Given the description of an element on the screen output the (x, y) to click on. 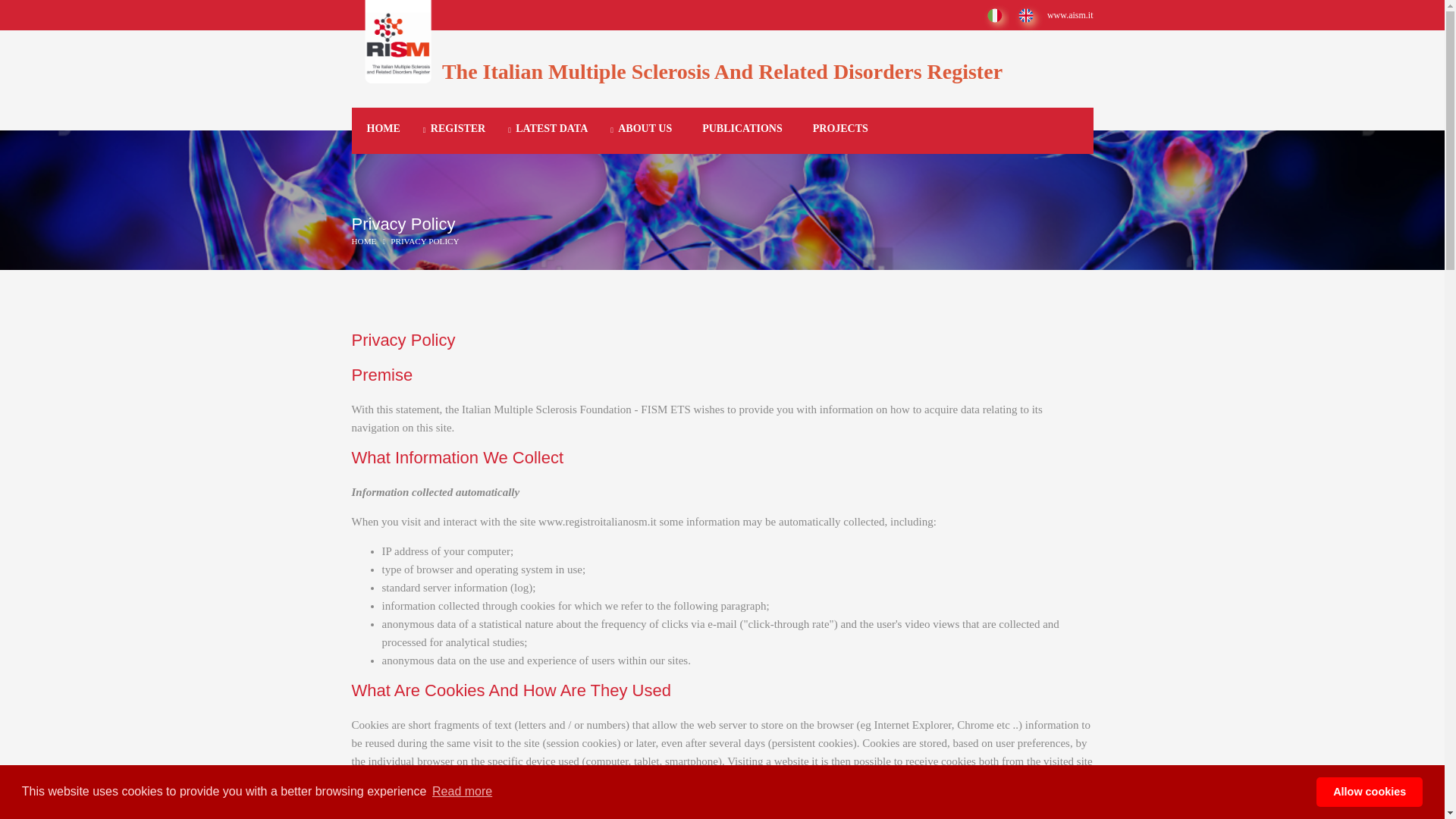
HOME (368, 240)
PROJECTS (840, 130)
Read more (462, 791)
Allow cookies (1369, 791)
PUBLICATIONS (742, 130)
www.aism.it (1069, 15)
LATEST DATA (551, 130)
PRIVACY POLICY (424, 240)
ABOUT US (644, 130)
HOME (383, 130)
